Given the description of an element on the screen output the (x, y) to click on. 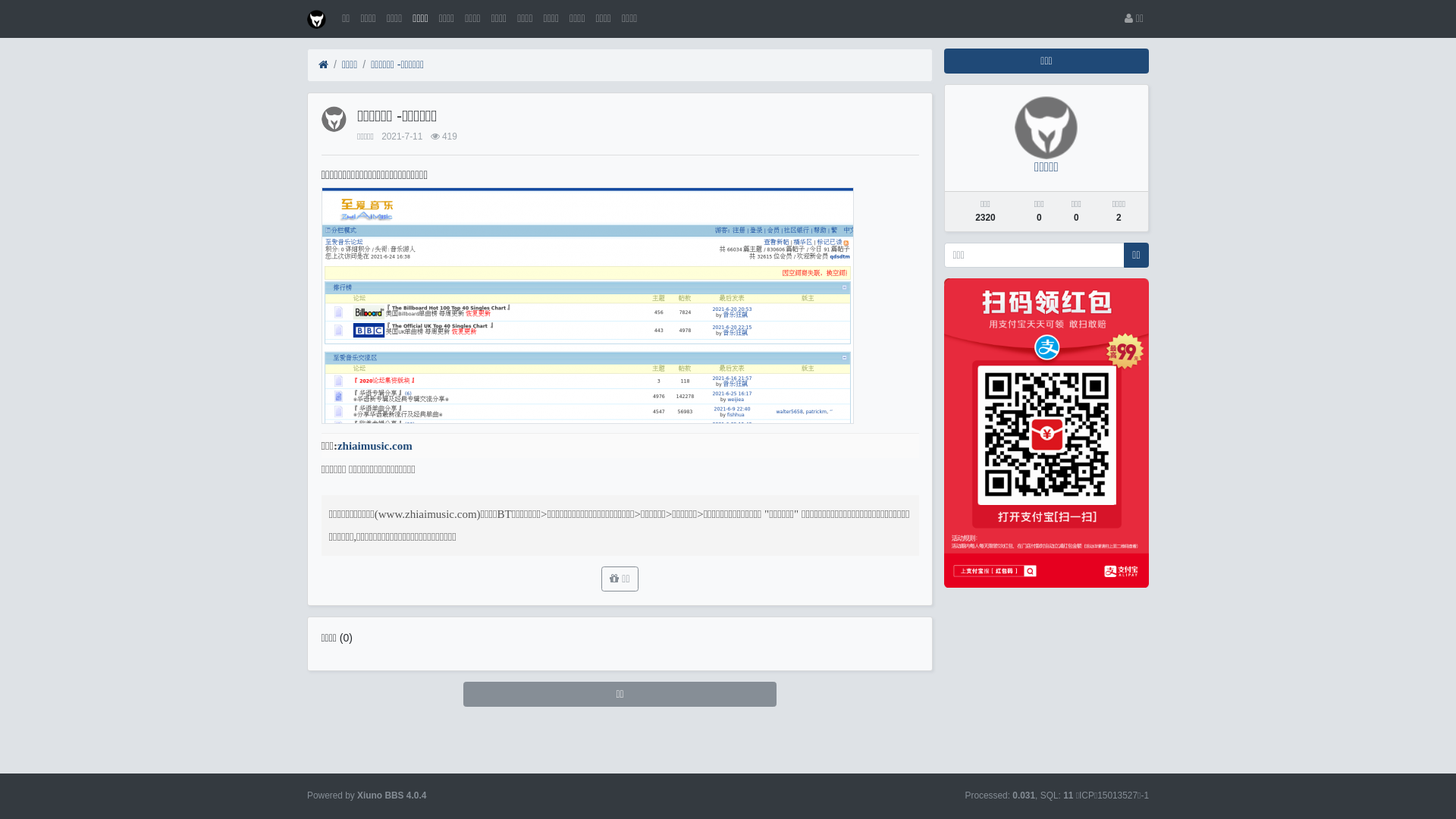
zhiaimusic.com Element type: text (374, 445)
Xiuno BBS 4.0.4 Element type: text (391, 795)
